Given the description of an element on the screen output the (x, y) to click on. 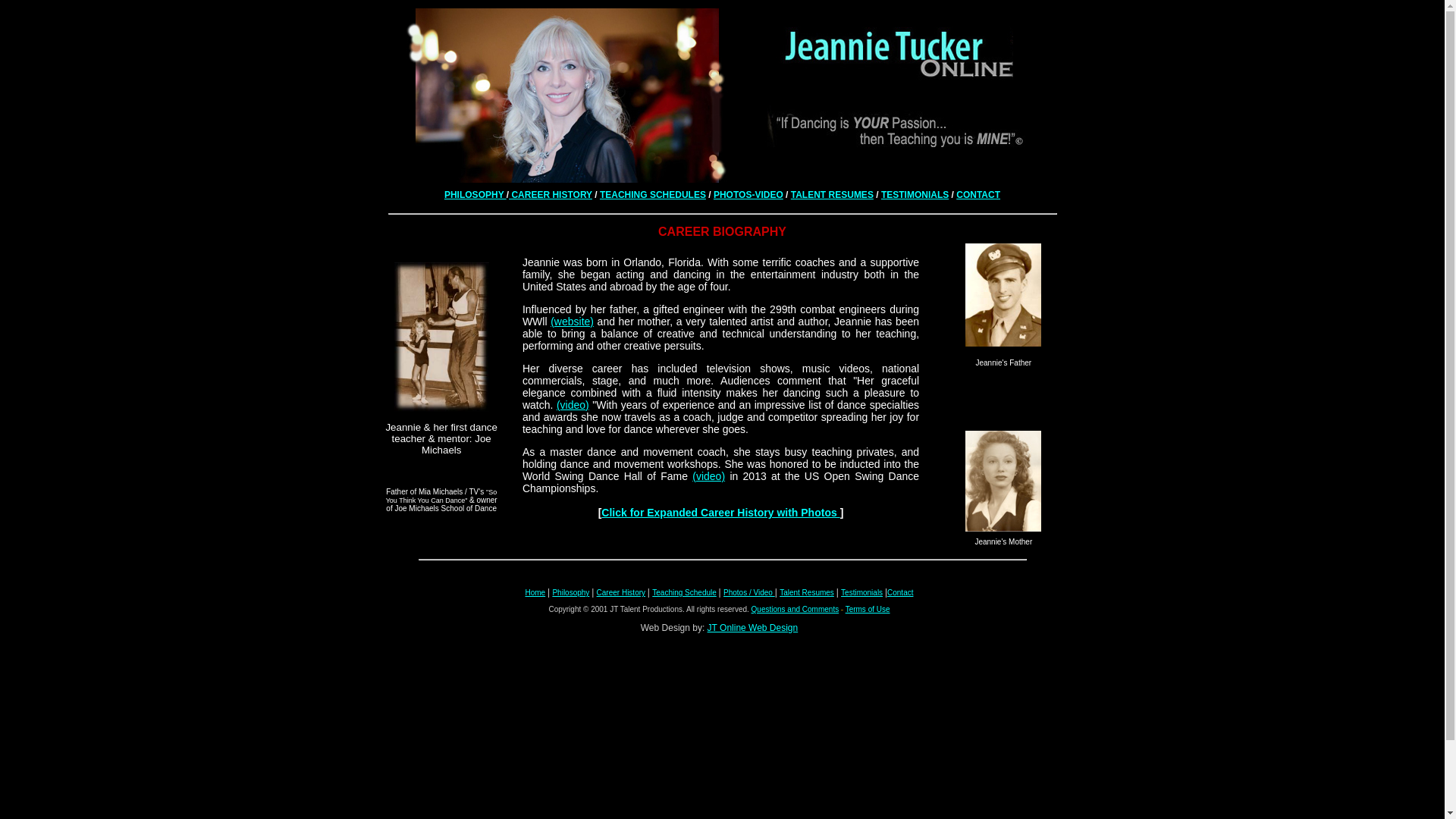
TESTIMONIALS (914, 194)
TALENT RESUMES (831, 194)
Teaching Schedule (684, 592)
Questions and Comments (795, 609)
Home (534, 592)
PHILOSOPHY (475, 194)
TEACHING SCHEDULES (652, 194)
Career History (620, 592)
Terms of Use (867, 609)
Philosophy (570, 592)
